Given the description of an element on the screen output the (x, y) to click on. 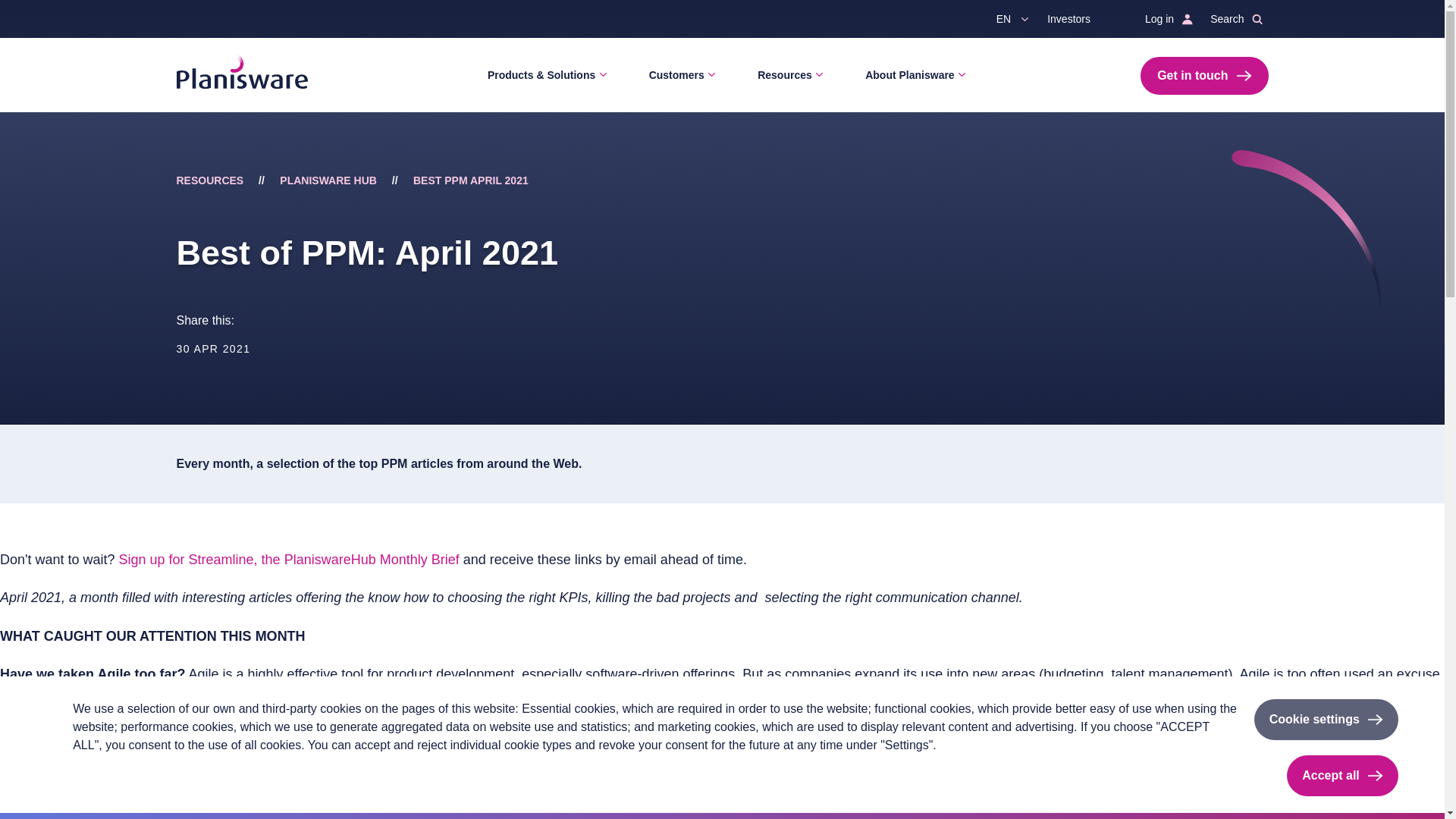
Investors (1075, 18)
Customers (679, 75)
Log in (1165, 18)
